Given the description of an element on the screen output the (x, y) to click on. 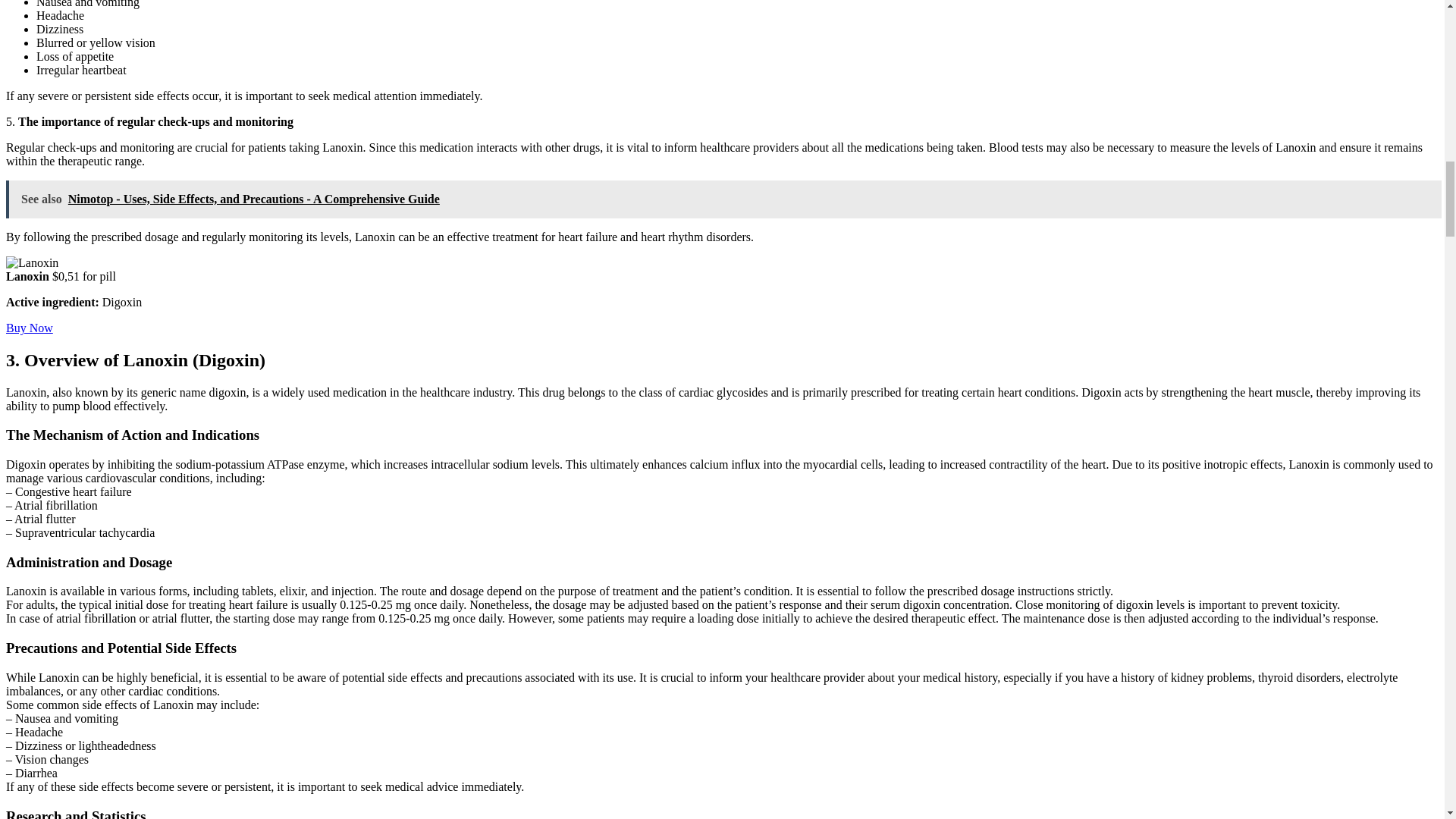
Buy Now (28, 327)
